Given the description of an element on the screen output the (x, y) to click on. 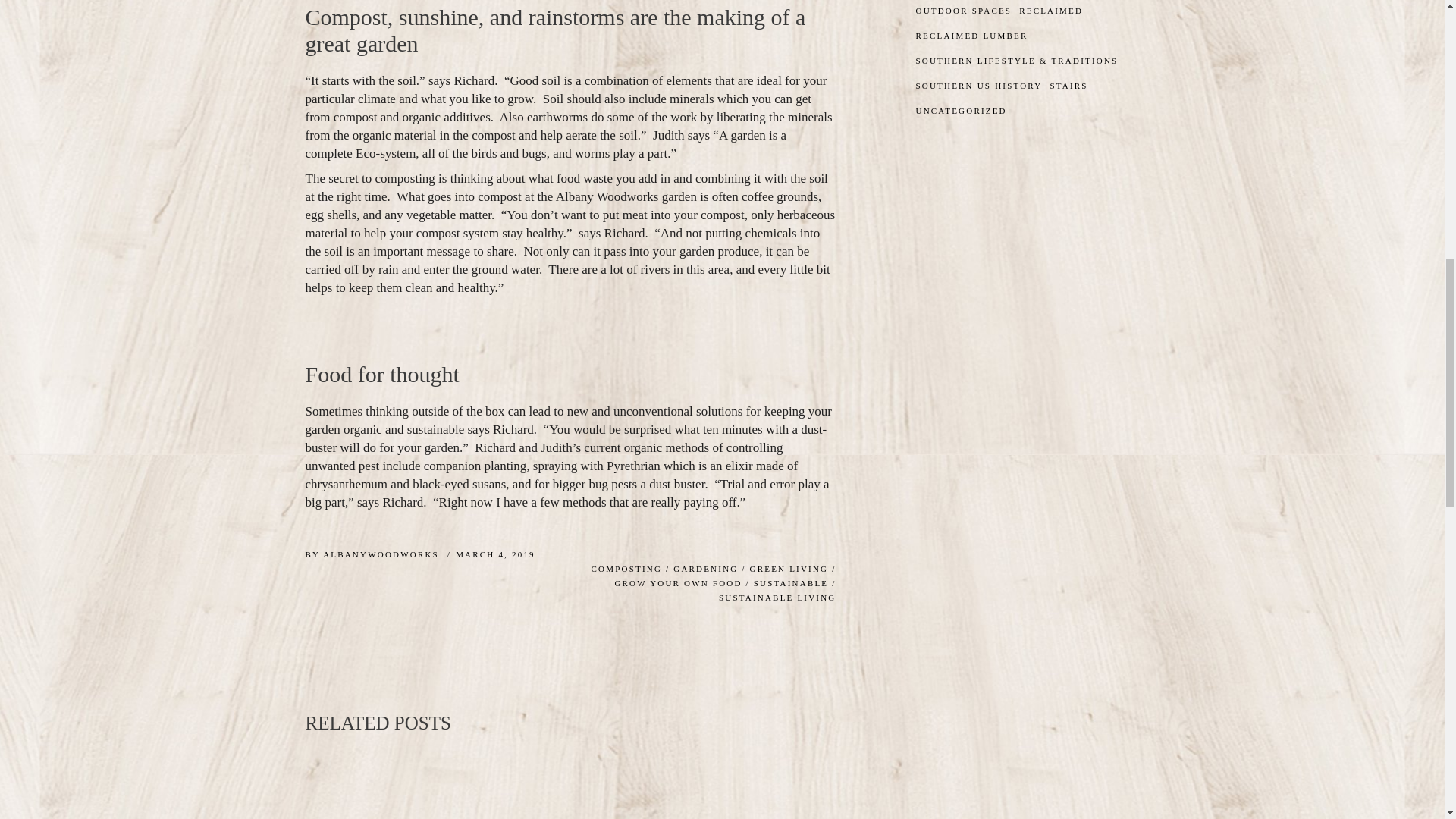
Engineered Flooring with Reclaimed Roots (754, 791)
What to Expect With Reclaimed Wood (569, 791)
Building One Of The First Sustainable Homes In The US (384, 791)
